Given the description of an element on the screen output the (x, y) to click on. 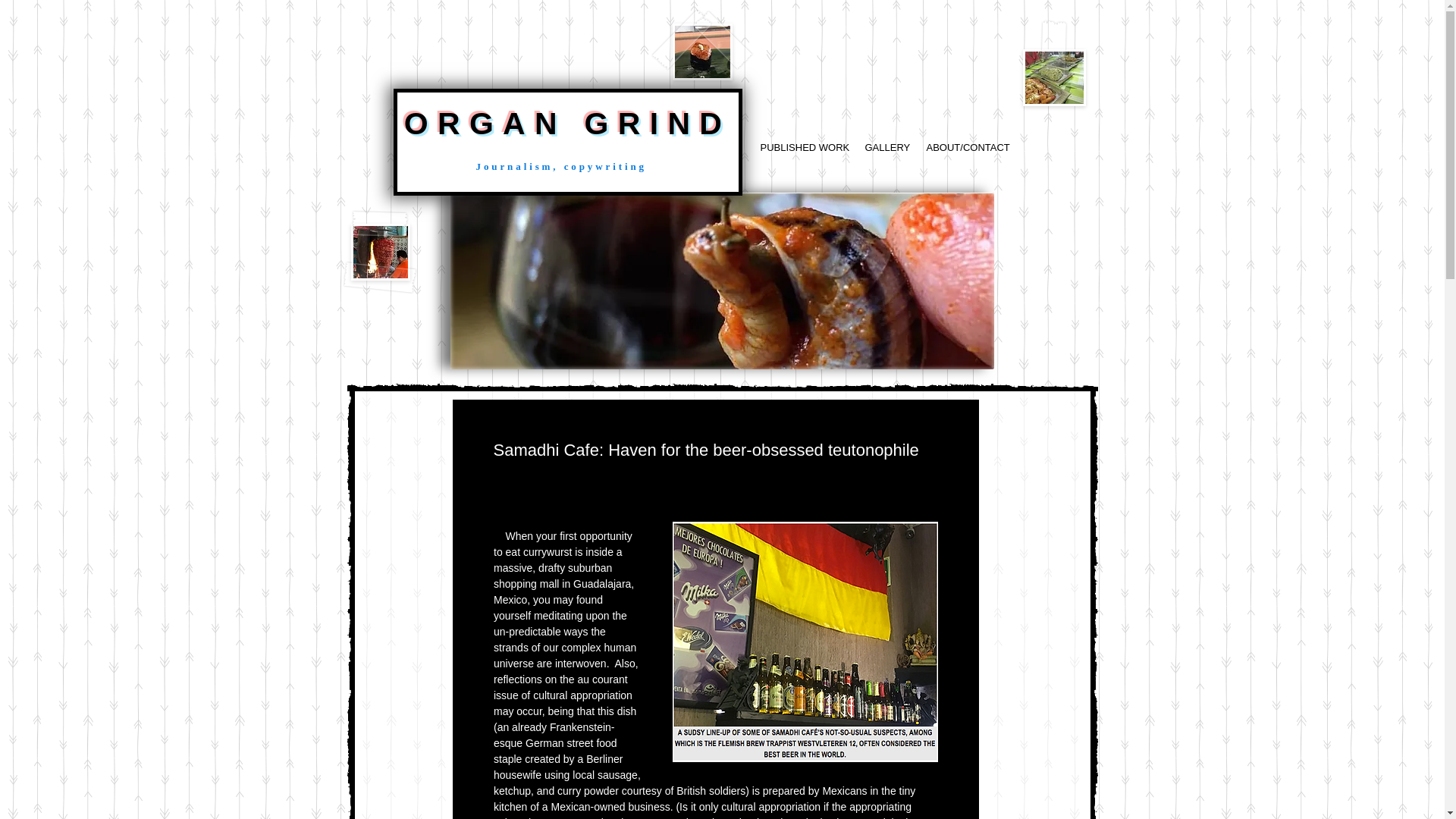
food cagliari snail.jpg (721, 280)
ORGAN (494, 123)
IND (690, 123)
GR (617, 123)
PUBLISHED WORK (801, 147)
